Given the description of an element on the screen output the (x, y) to click on. 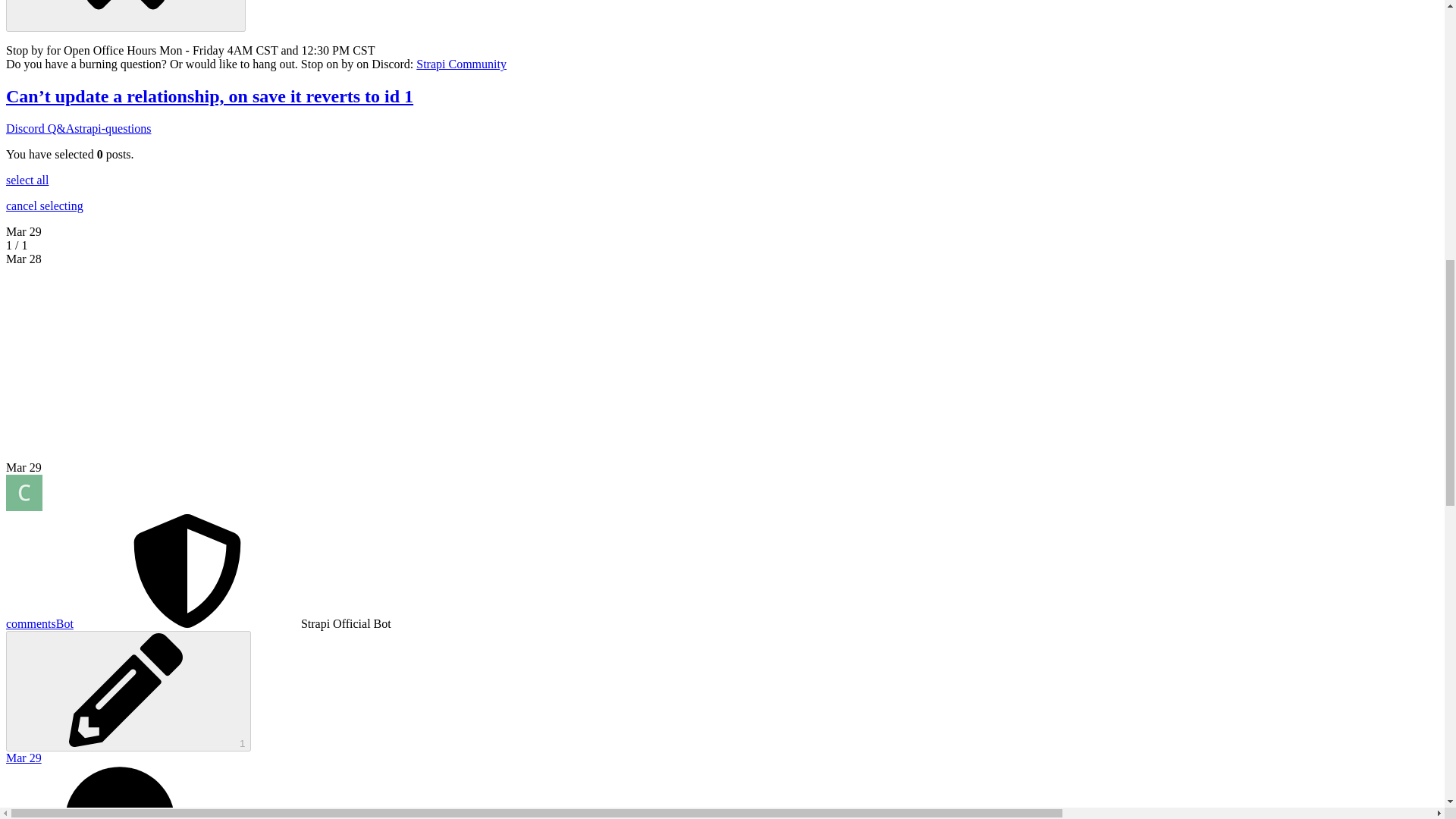
strapi-questions (112, 128)
Strapi Community (461, 63)
This user is a moderator (187, 623)
cancel selecting (43, 205)
Post date (23, 757)
commentsBot (39, 623)
Post is unread (721, 791)
Mar 29, 2024 12:25 am (23, 467)
Mar 29 (23, 467)
Dismiss this banner (125, 15)
Mar 29 (23, 231)
1 (127, 690)
Mar 29 (23, 757)
select all (26, 179)
Mar 29 (23, 231)
